Given the description of an element on the screen output the (x, y) to click on. 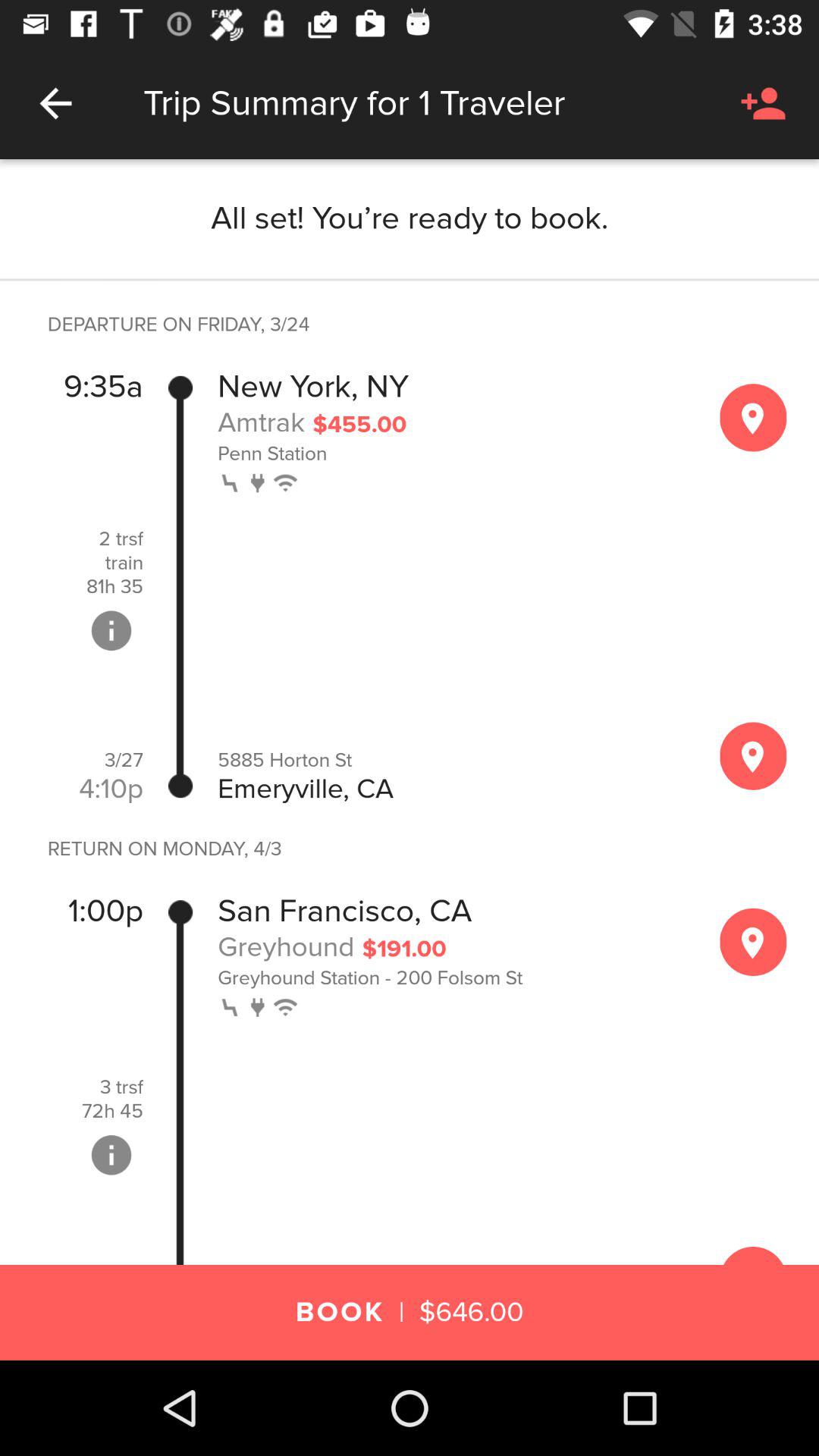
get more info (111, 1154)
